Given the description of an element on the screen output the (x, y) to click on. 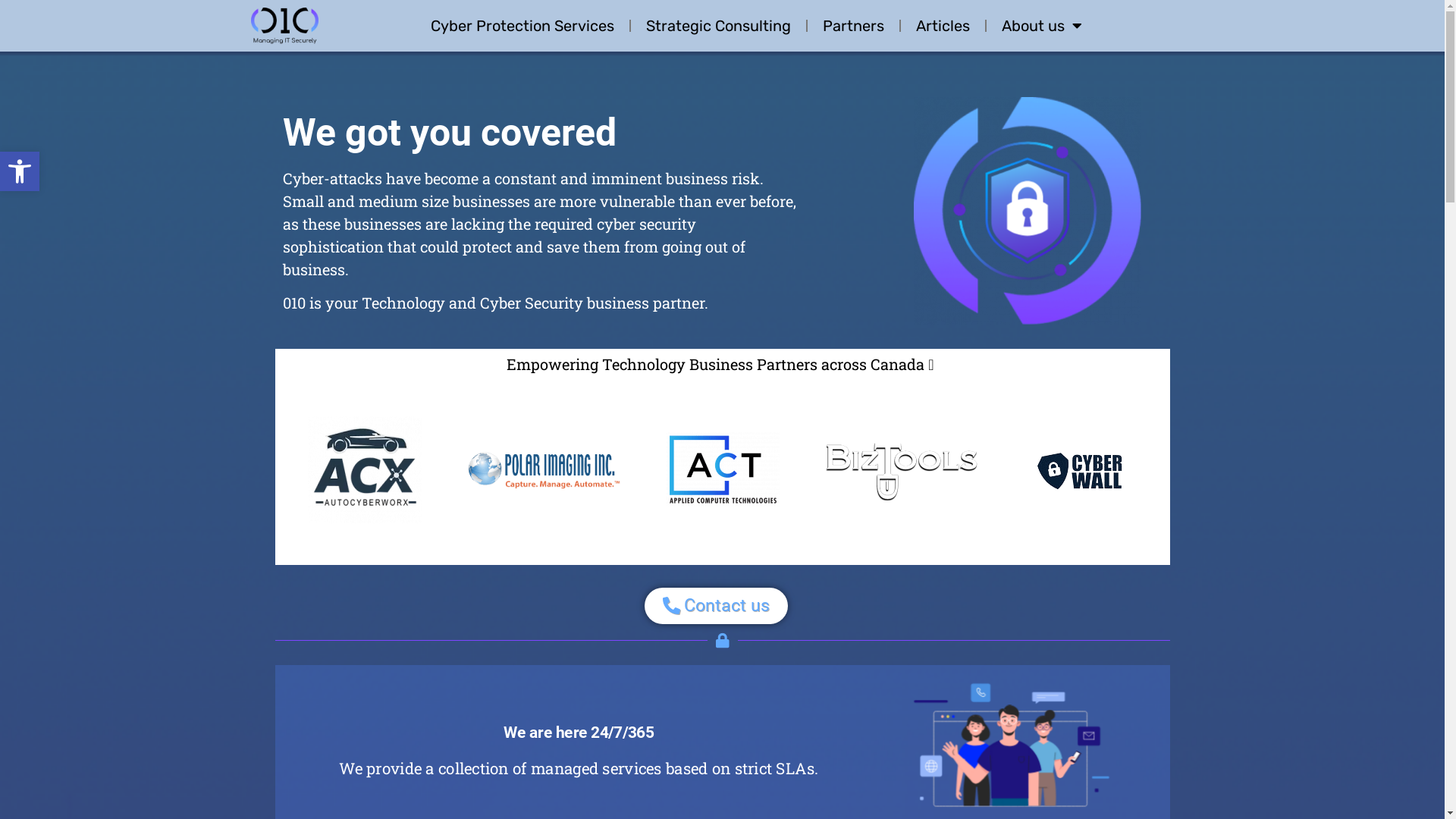
Articles Element type: text (942, 25)
Strategic Consulting Element type: text (718, 25)
Partners Element type: text (853, 25)
About us Element type: text (1041, 25)
Open toolbar
Accessibility Tools Element type: text (19, 171)
Contact us Element type: text (715, 605)
Cyber Protection Services Element type: text (522, 25)
